Given the description of an element on the screen output the (x, y) to click on. 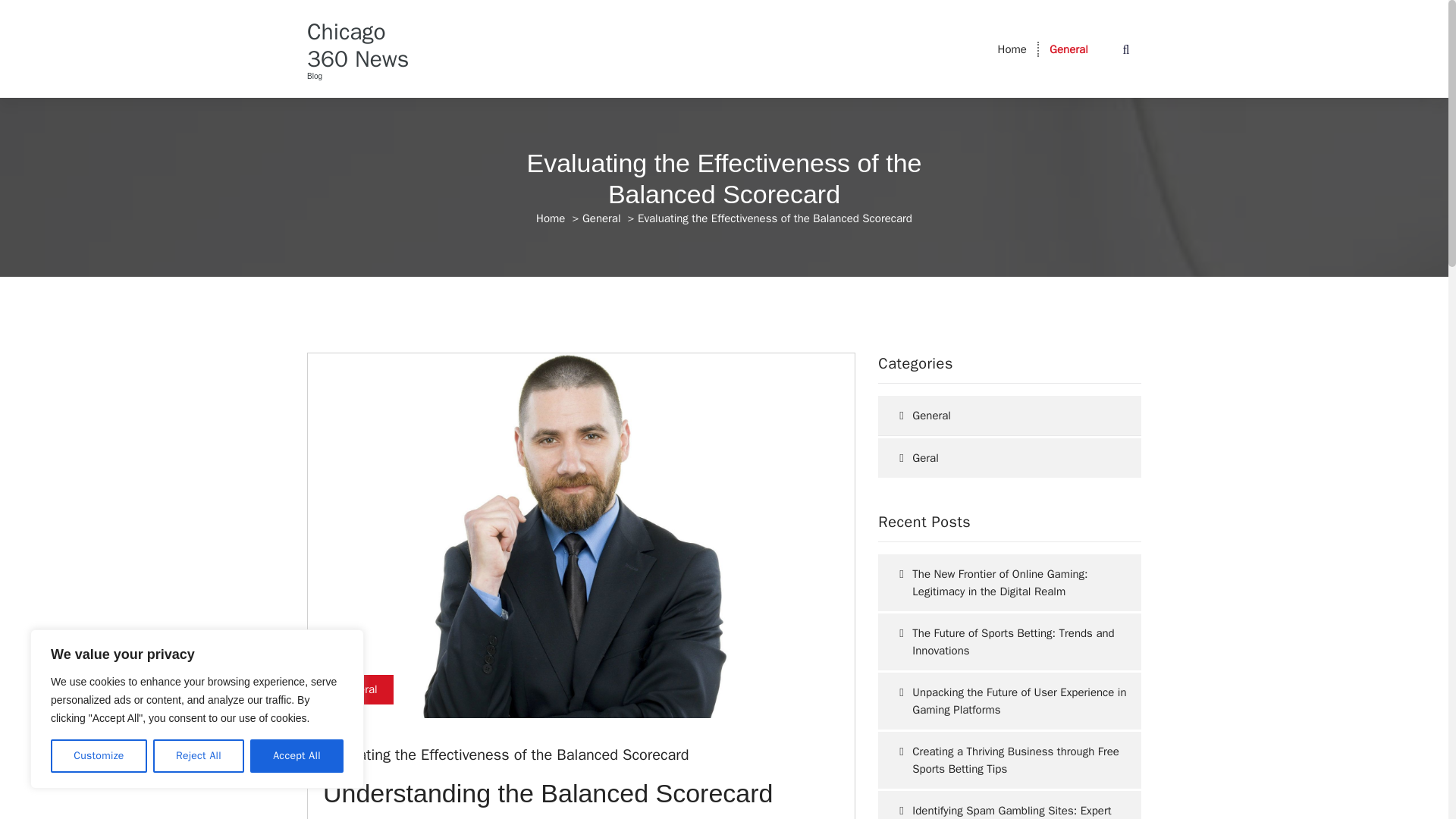
Home (549, 218)
Home (1012, 49)
General (1068, 49)
Accept All (296, 756)
General (1068, 49)
Chicago 360 News (366, 45)
Home (1012, 49)
General (358, 689)
General (601, 218)
Reject All (198, 756)
